Given the description of an element on the screen output the (x, y) to click on. 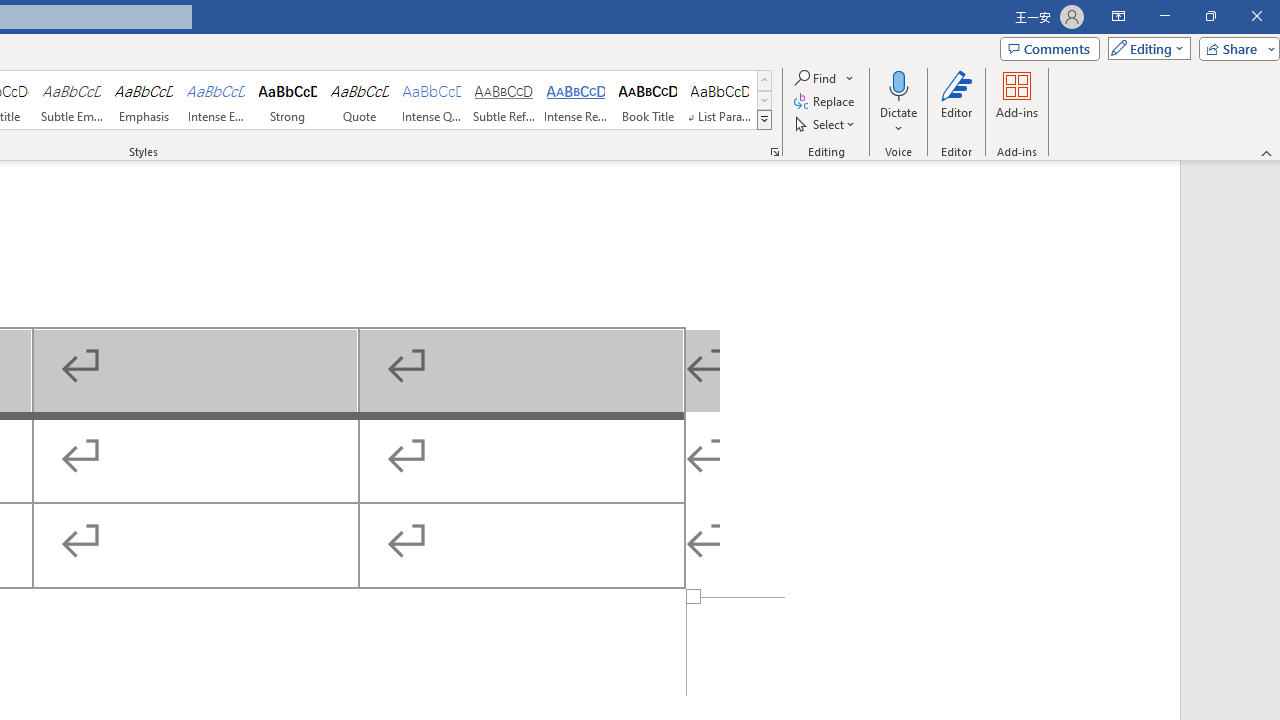
Book Title (647, 100)
Subtle Emphasis (71, 100)
